Given the description of an element on the screen output the (x, y) to click on. 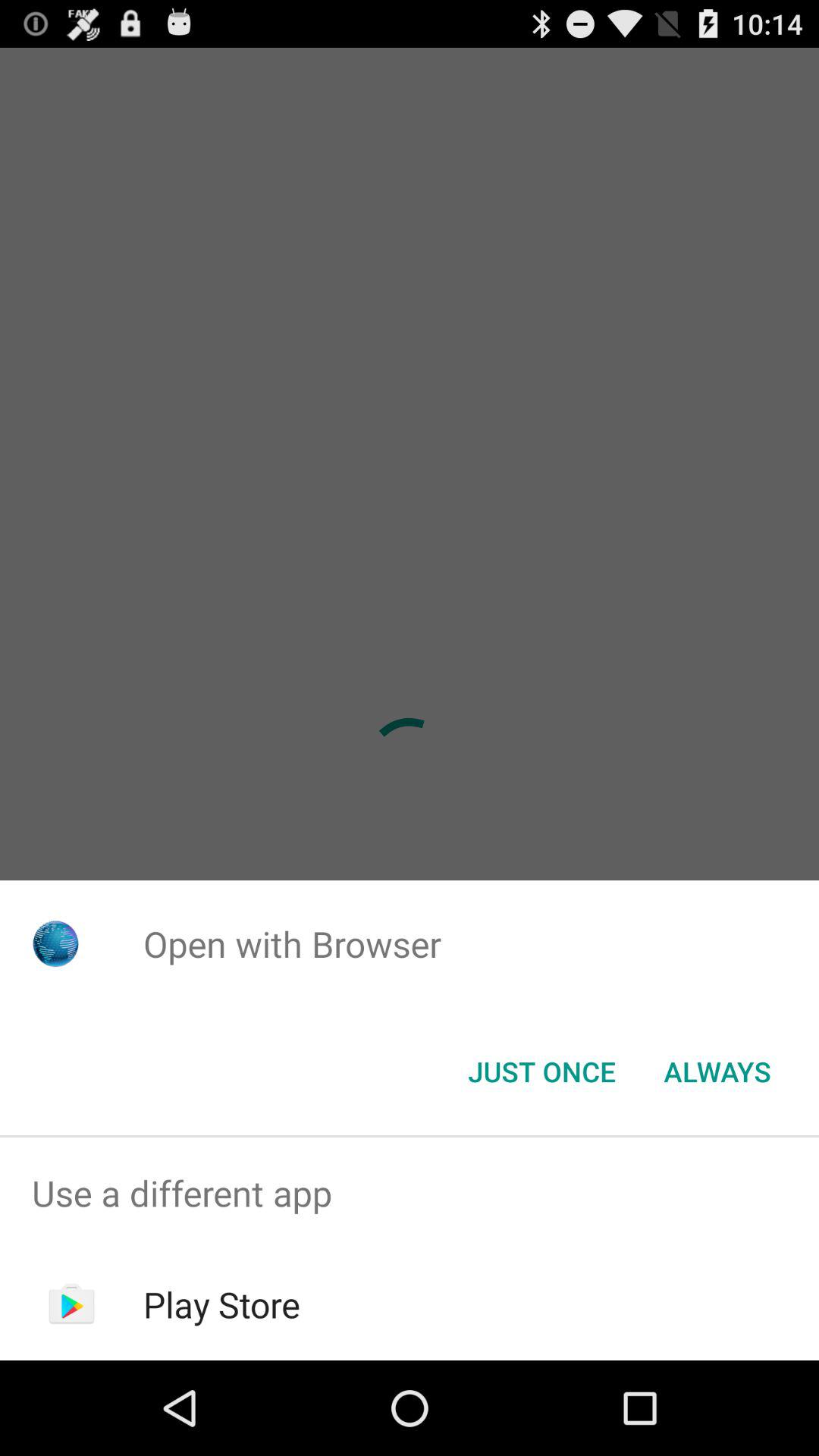
click item to the left of the always (541, 1071)
